Given the description of an element on the screen output the (x, y) to click on. 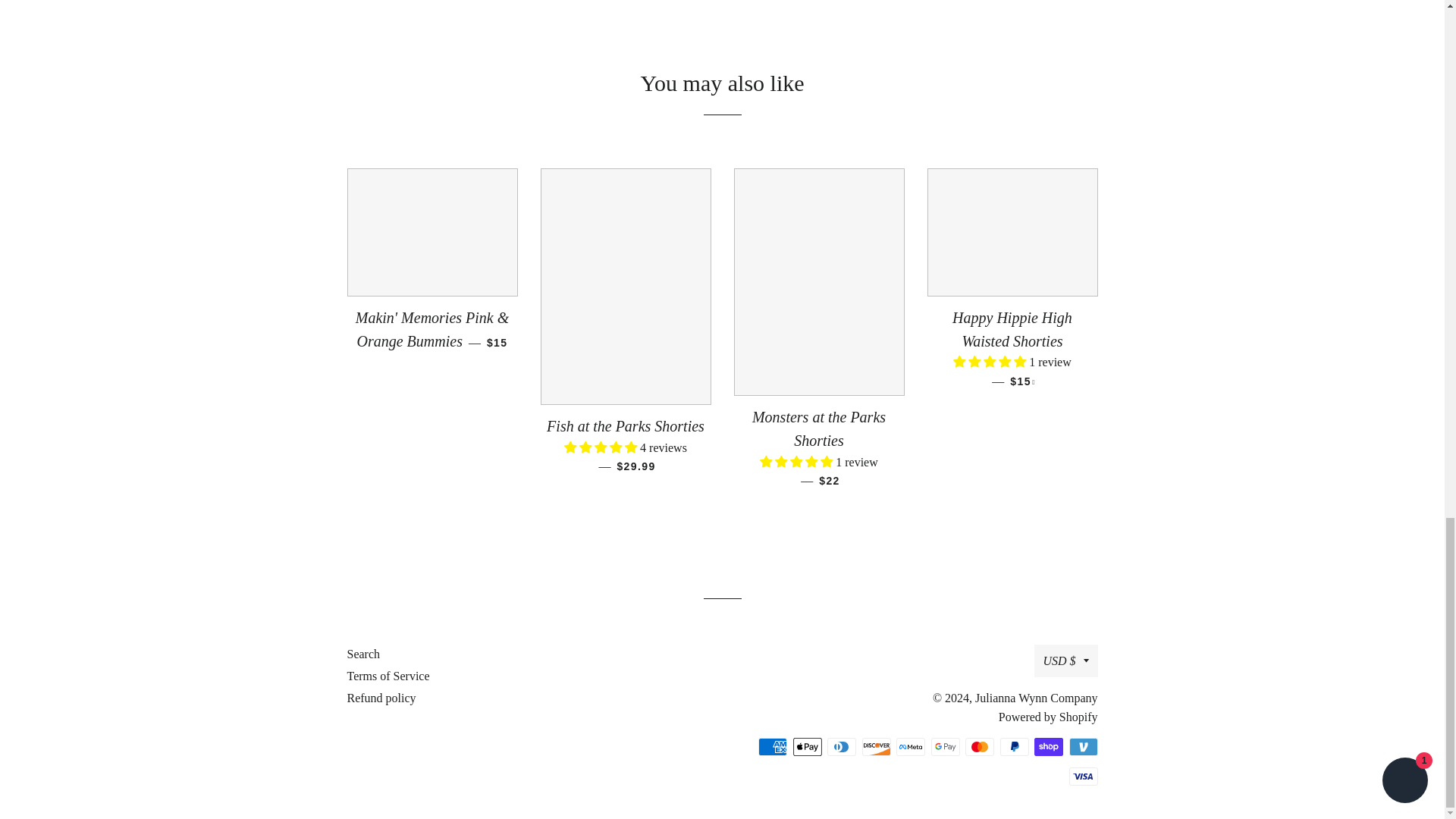
PayPal (1012, 746)
Apple Pay (807, 746)
Google Pay (945, 746)
Visa (1082, 776)
Shop Pay (1047, 746)
Discover (875, 746)
Diners Club (841, 746)
Venmo (1082, 746)
Meta Pay (910, 746)
Mastercard (979, 746)
American Express (772, 746)
